Given the description of an element on the screen output the (x, y) to click on. 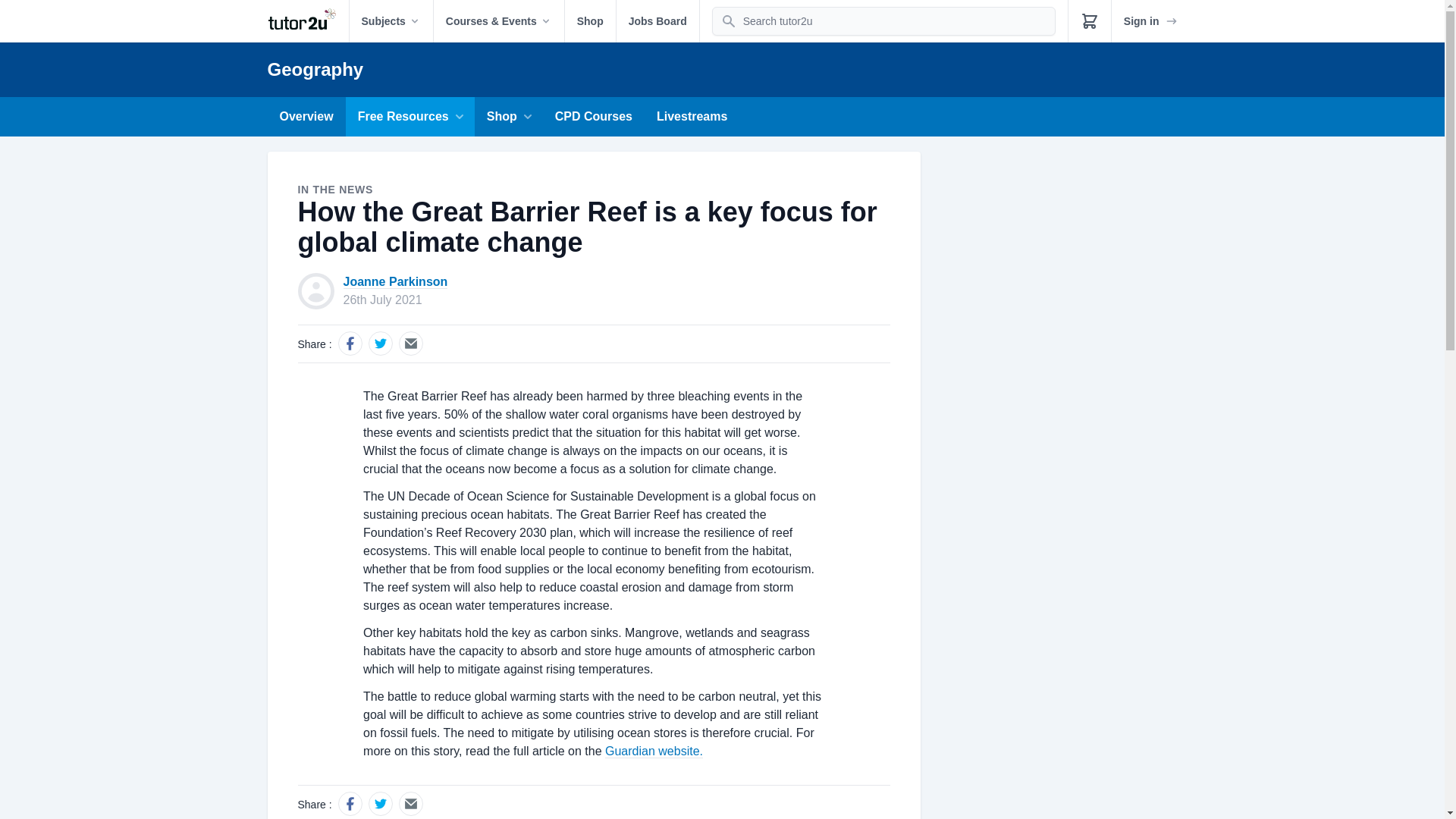
Shop (589, 21)
Jobs Board (656, 21)
Free Resources (410, 116)
Overview (305, 116)
Subjects (390, 21)
Sign in (1150, 21)
tutor2u (306, 21)
Geography (314, 68)
